Given the description of an element on the screen output the (x, y) to click on. 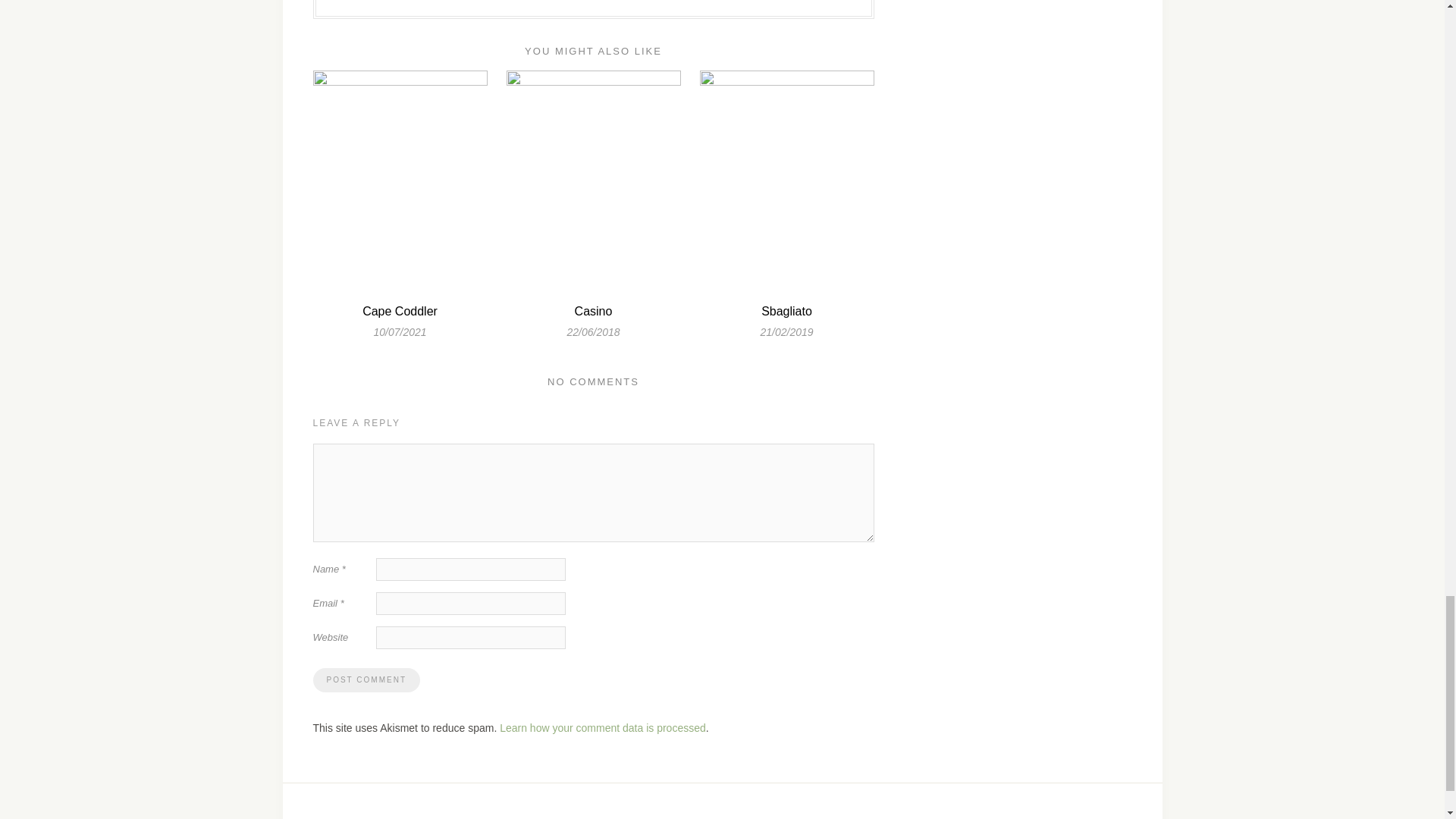
Cape Coddler (400, 310)
Learn how your comment data is processed (602, 727)
Post Comment (366, 680)
Casino (593, 310)
Post Comment (366, 680)
Sbagliato (786, 310)
